Given the description of an element on the screen output the (x, y) to click on. 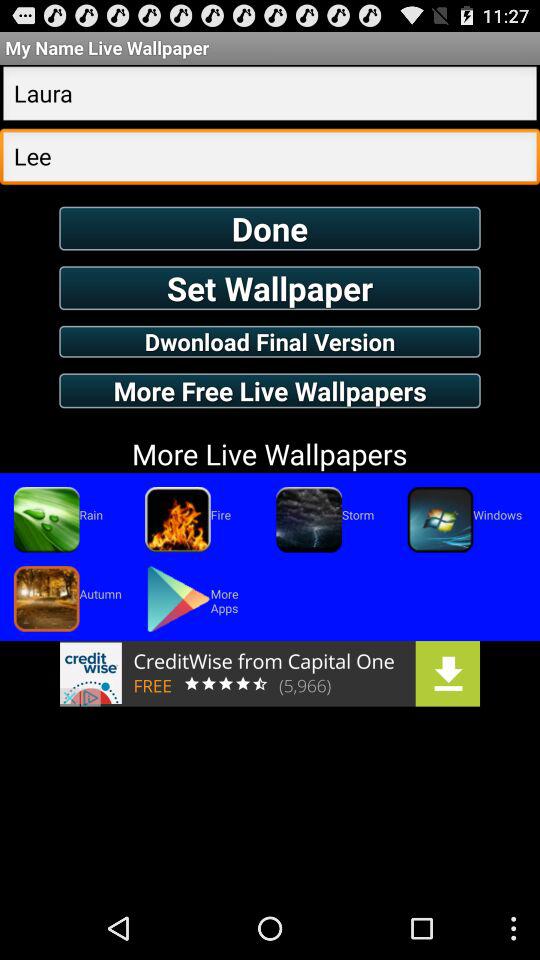
advertisement (270, 673)
